Given the description of an element on the screen output the (x, y) to click on. 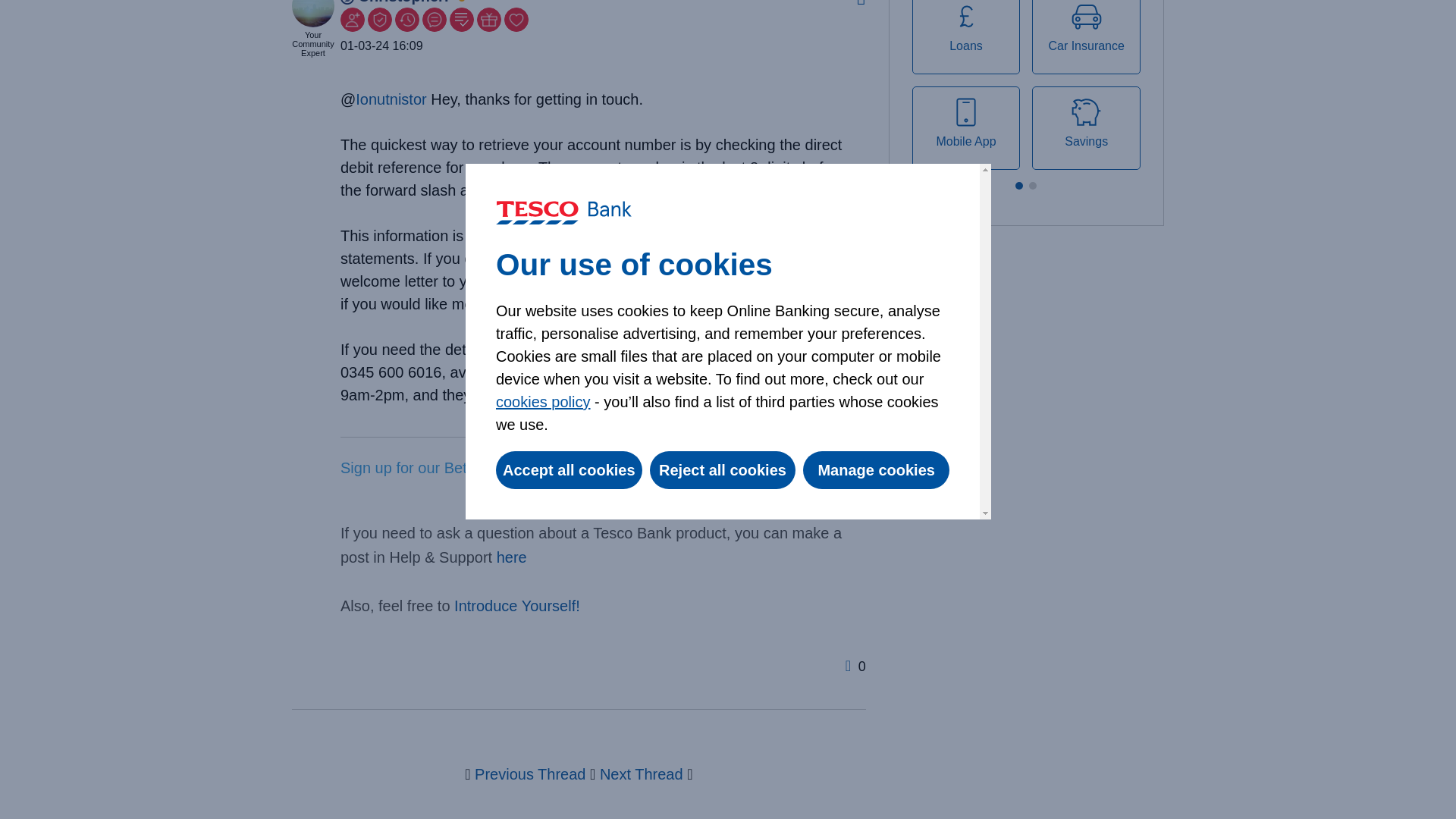
ChristopherP is offline (313, 6)
ChristopherP's Avatar (313, 13)
ChristopherP is offline (397, 2)
